Given the description of an element on the screen output the (x, y) to click on. 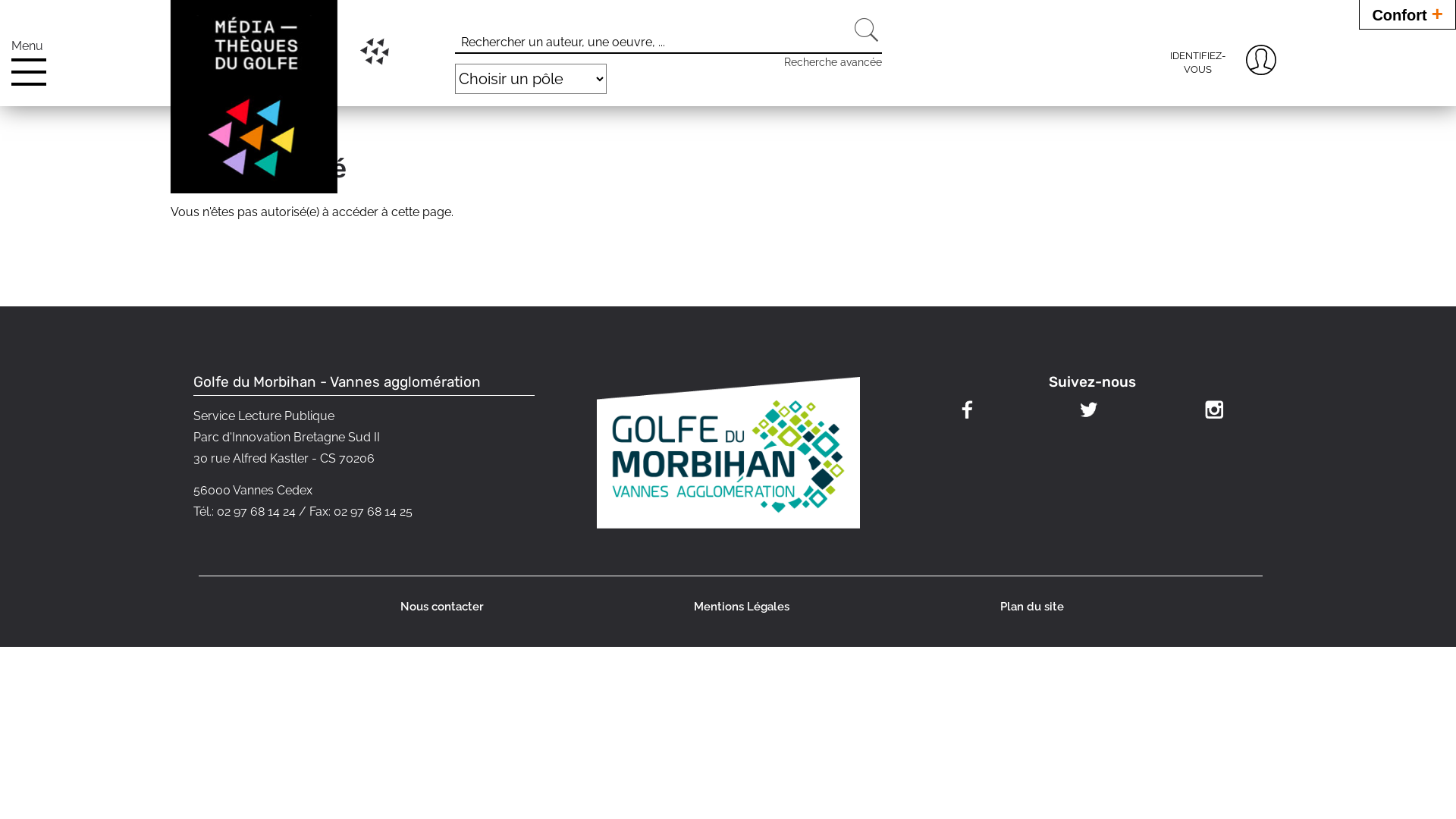
Confort+ Element type: text (1407, 14)
Accueil Element type: hover (253, 96)
Aller au contenu principal Element type: text (71, 159)
LANCER LA RECHERCHE Element type: text (866, 29)
Nous contacter Element type: text (440, 606)
Plan du site Element type: text (1030, 606)
IDENTIFIEZ-VOUS Element type: text (1196, 64)
